Given the description of an element on the screen output the (x, y) to click on. 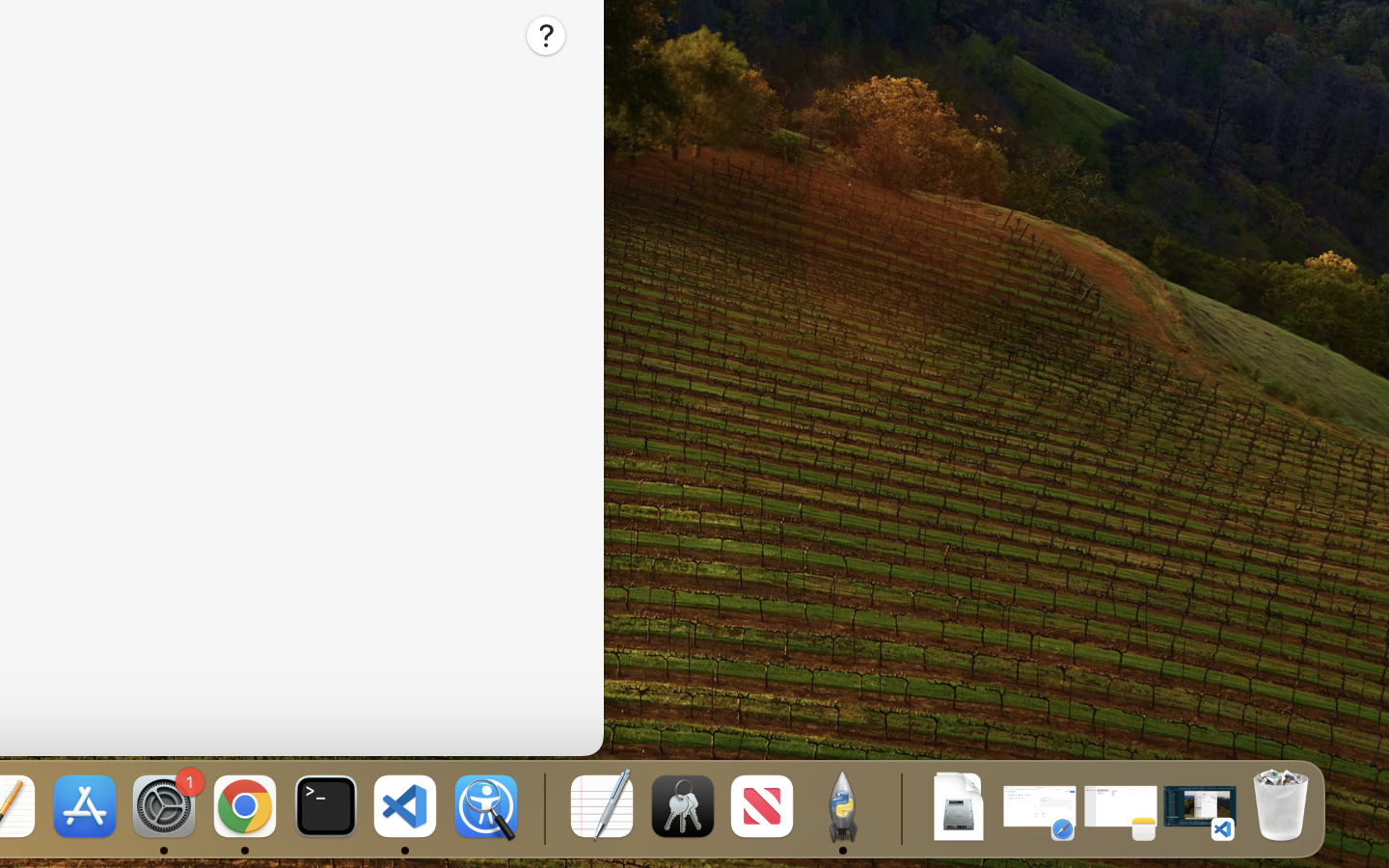
0.4285714328289032 Element type: AXDockItem (541, 807)
